Given the description of an element on the screen output the (x, y) to click on. 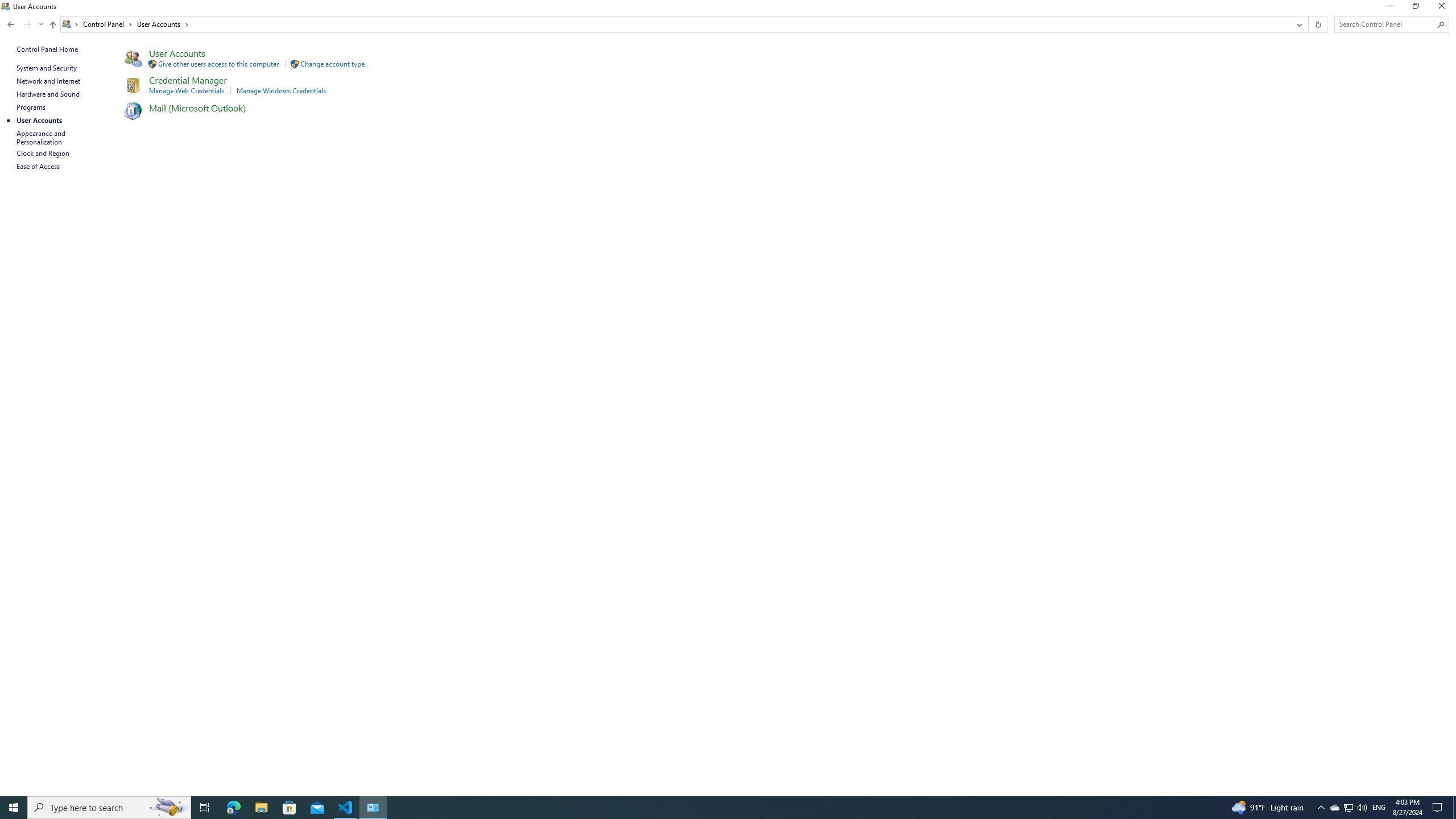
Navigation buttons (24, 23)
Ease of Access (38, 166)
Appearance and Personalization (42, 137)
System (6, 6)
Refresh "User Accounts" (F5) (1316, 23)
Up to "Control Panel" (Alt + Up Arrow) (52, 24)
